Given the description of an element on the screen output the (x, y) to click on. 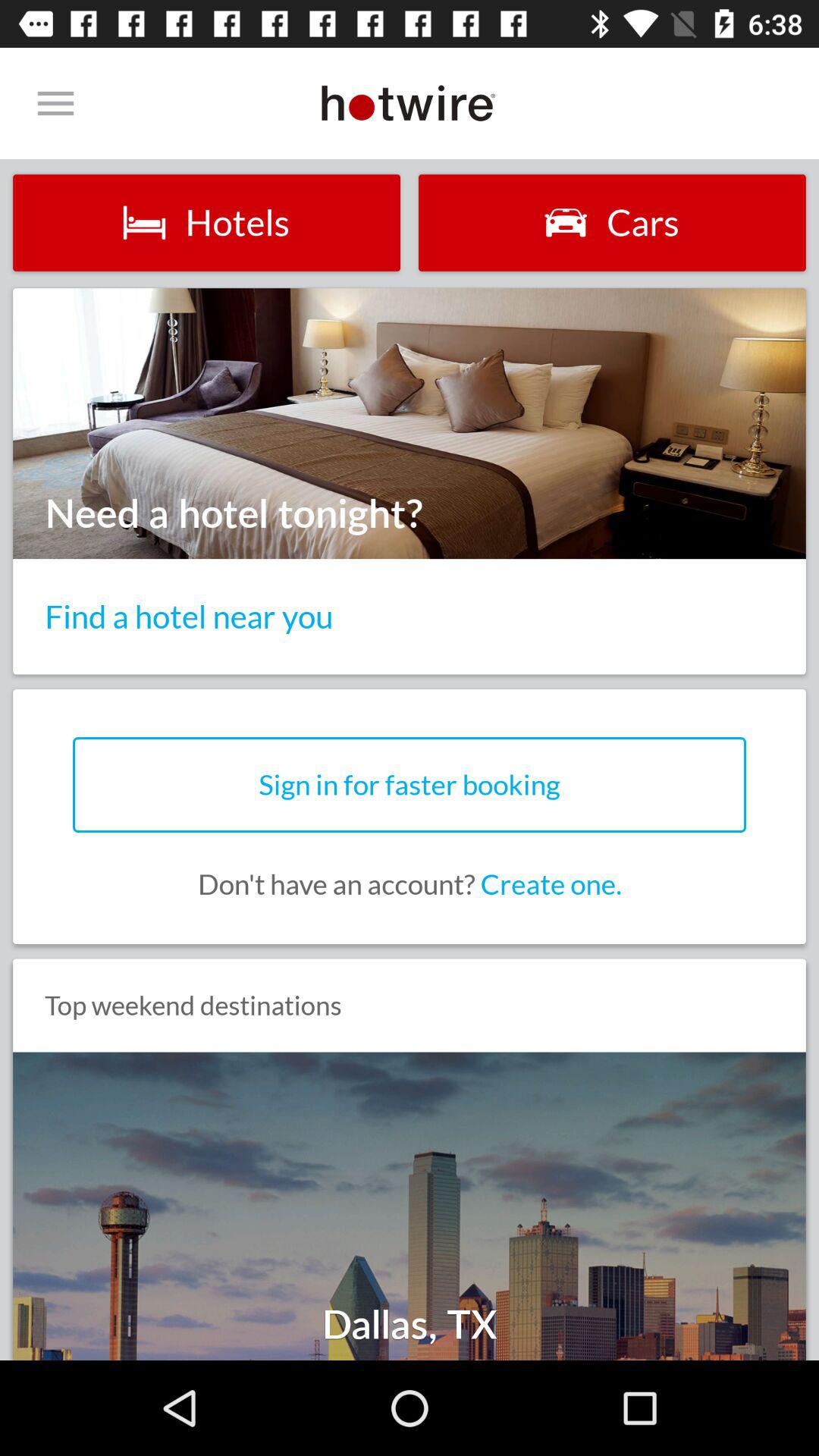
turn on the icon above the top weekend destinations (409, 884)
